Given the description of an element on the screen output the (x, y) to click on. 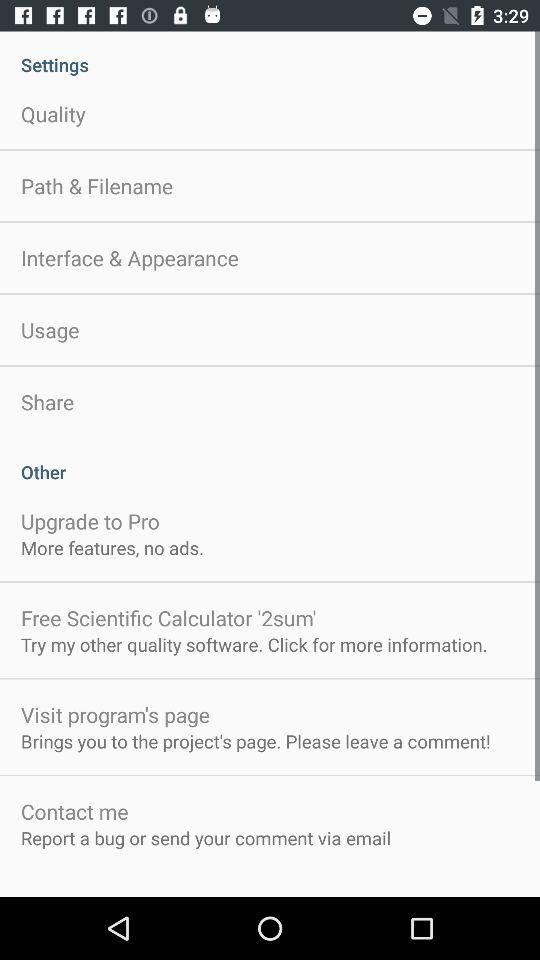
click the icon above interface & appearance item (97, 185)
